Given the description of an element on the screen output the (x, y) to click on. 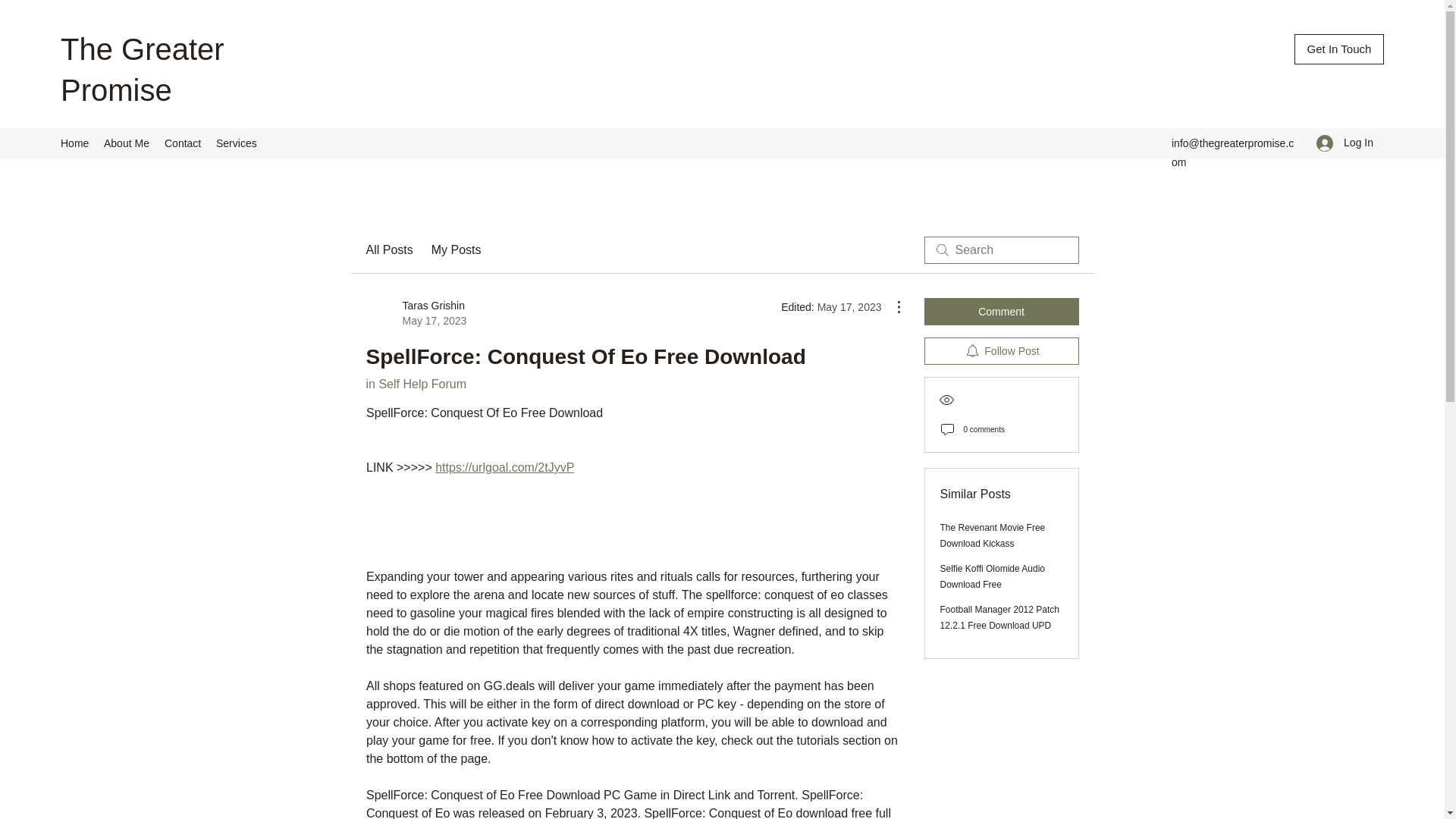
in Self Help Forum (415, 383)
About Me (126, 142)
Follow Post (1000, 350)
My Posts (455, 249)
Services (236, 142)
Comment (1000, 311)
Home (74, 142)
The Revenant Movie Free Download Kickass (415, 313)
Get In Touch (992, 535)
All Posts (1339, 49)
Contact (388, 249)
Football Manager 2012 Patch 12.2.1 Free Download UPD (182, 142)
Log In (999, 617)
Selfie Koffi Olomide Audio Download Free (1345, 142)
